Given the description of an element on the screen output the (x, y) to click on. 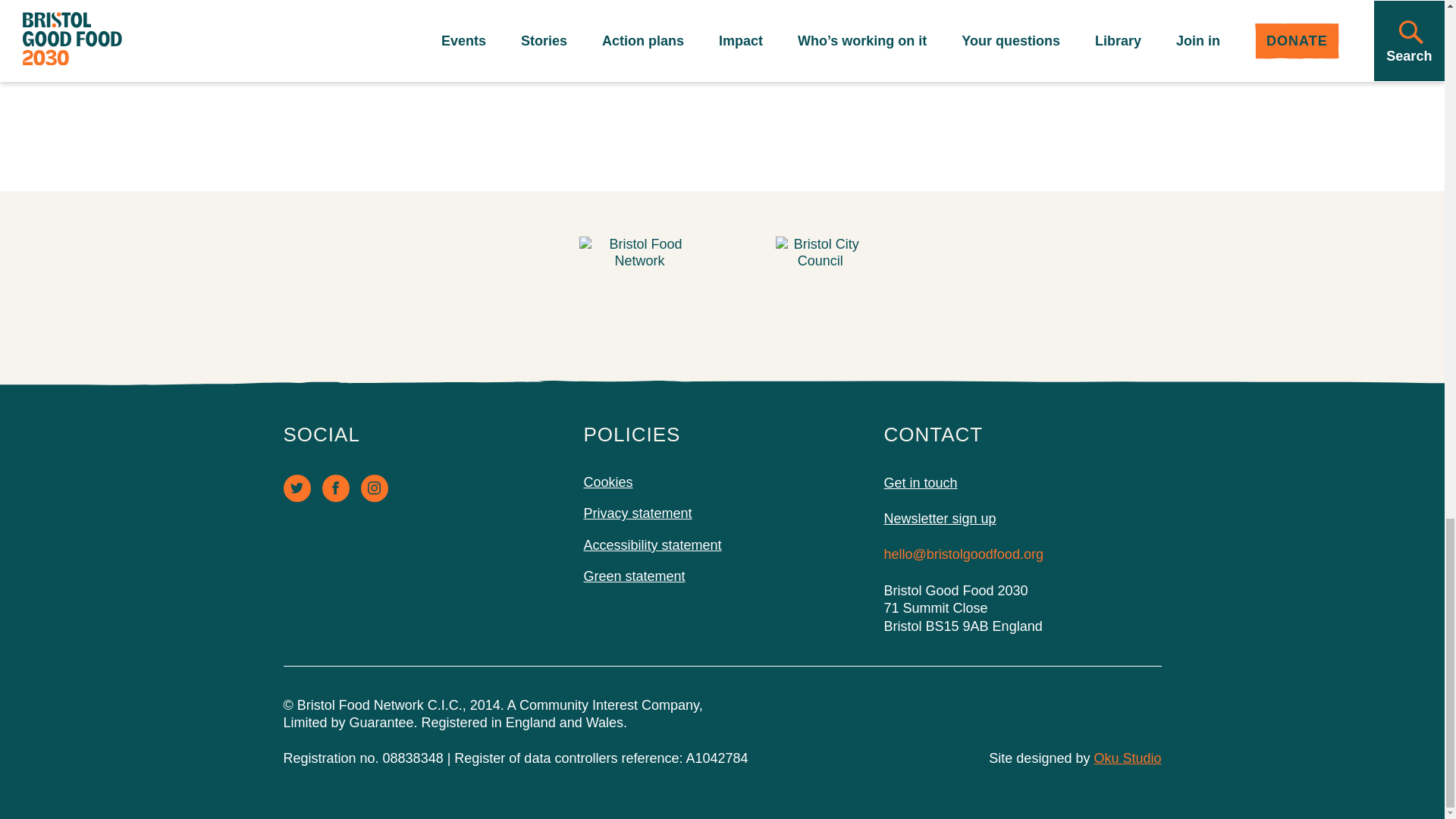
Facebook - Opens in new window. (335, 488)
Privacy statement (638, 513)
Cookies (608, 482)
Accessibility statement (652, 544)
Green statement (634, 575)
Instagram - Opens in new window. (374, 488)
Get in touch (1022, 483)
Newsletter sign up (1022, 518)
Twitter - Opens in new window. (297, 488)
